Given the description of an element on the screen output the (x, y) to click on. 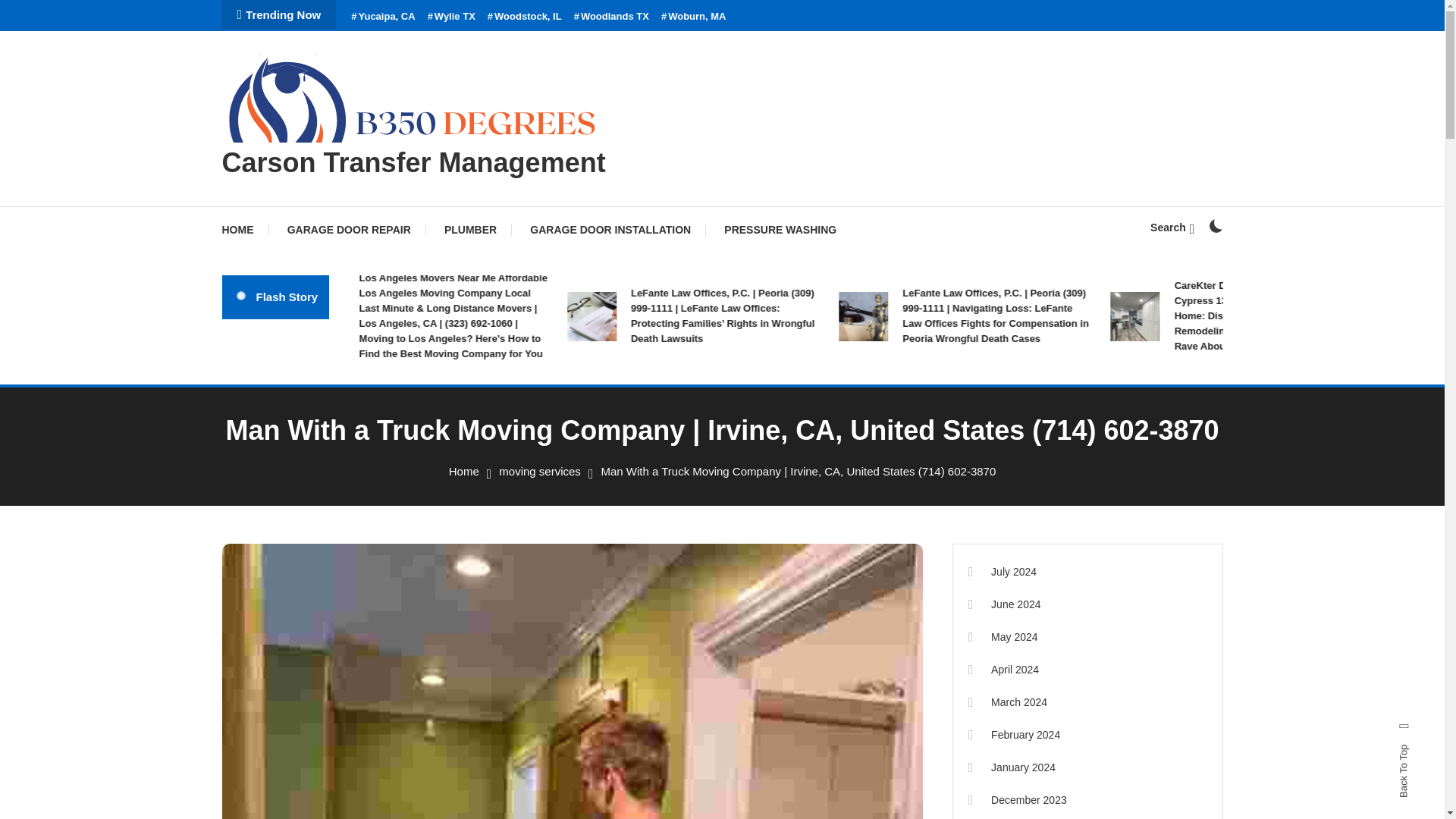
GARAGE DOOR INSTALLATION (610, 229)
HOME (244, 229)
on (1215, 225)
Yucaipa, CA (382, 16)
Home (463, 471)
PLUMBER (470, 229)
GARAGE DOOR REPAIR (349, 229)
Wylie TX (452, 16)
moving services (539, 471)
Search (768, 434)
Woodstock, IL (524, 16)
Woburn, MA (693, 16)
Carson Transfer Management (413, 162)
Search (1171, 227)
Woodlands TX (611, 16)
